Given the description of an element on the screen output the (x, y) to click on. 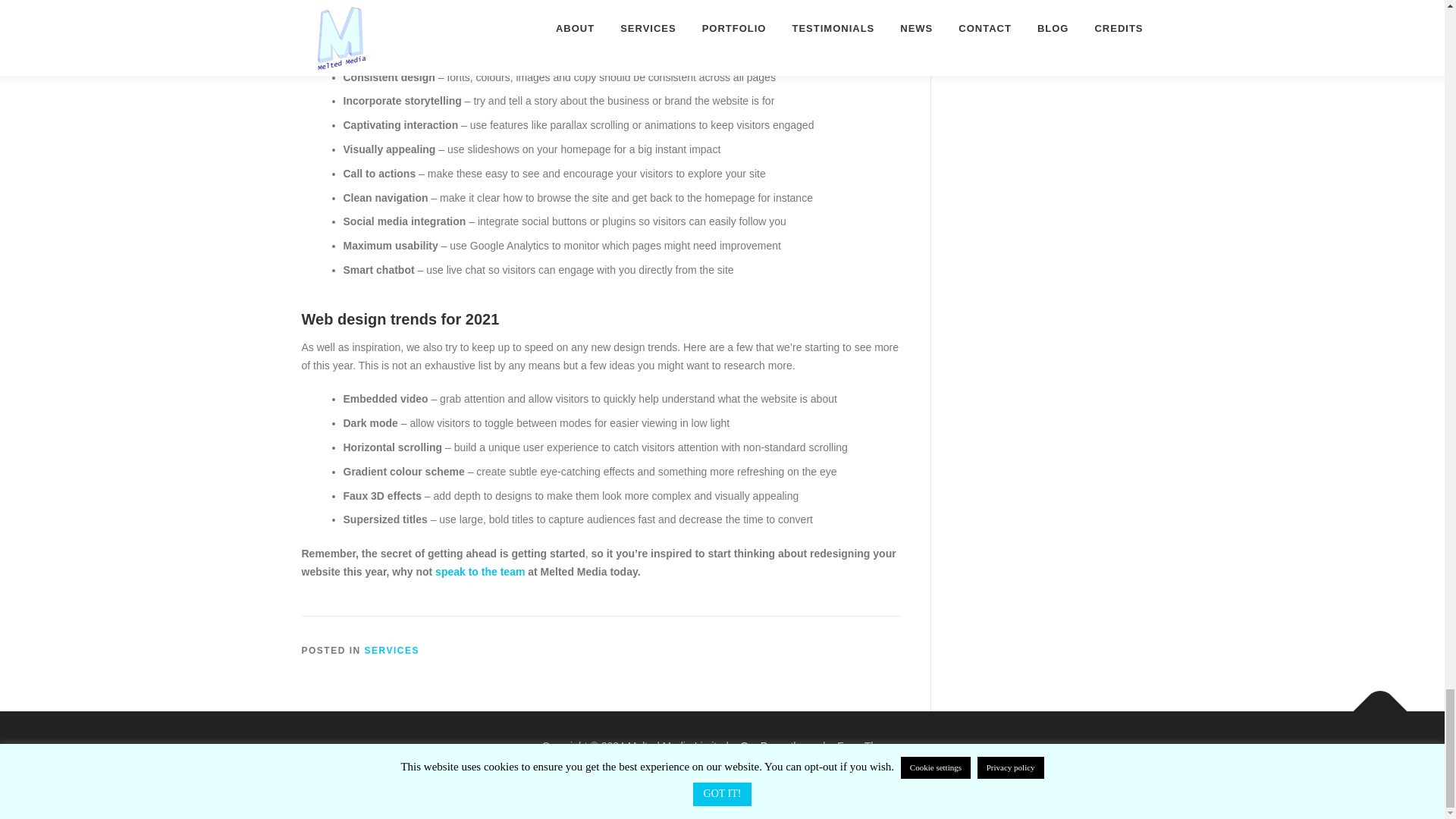
Flaticon (788, 764)
SERVICES (392, 650)
Back To Top (1372, 703)
Freepik (703, 764)
speak to the team (479, 571)
